Given the description of an element on the screen output the (x, y) to click on. 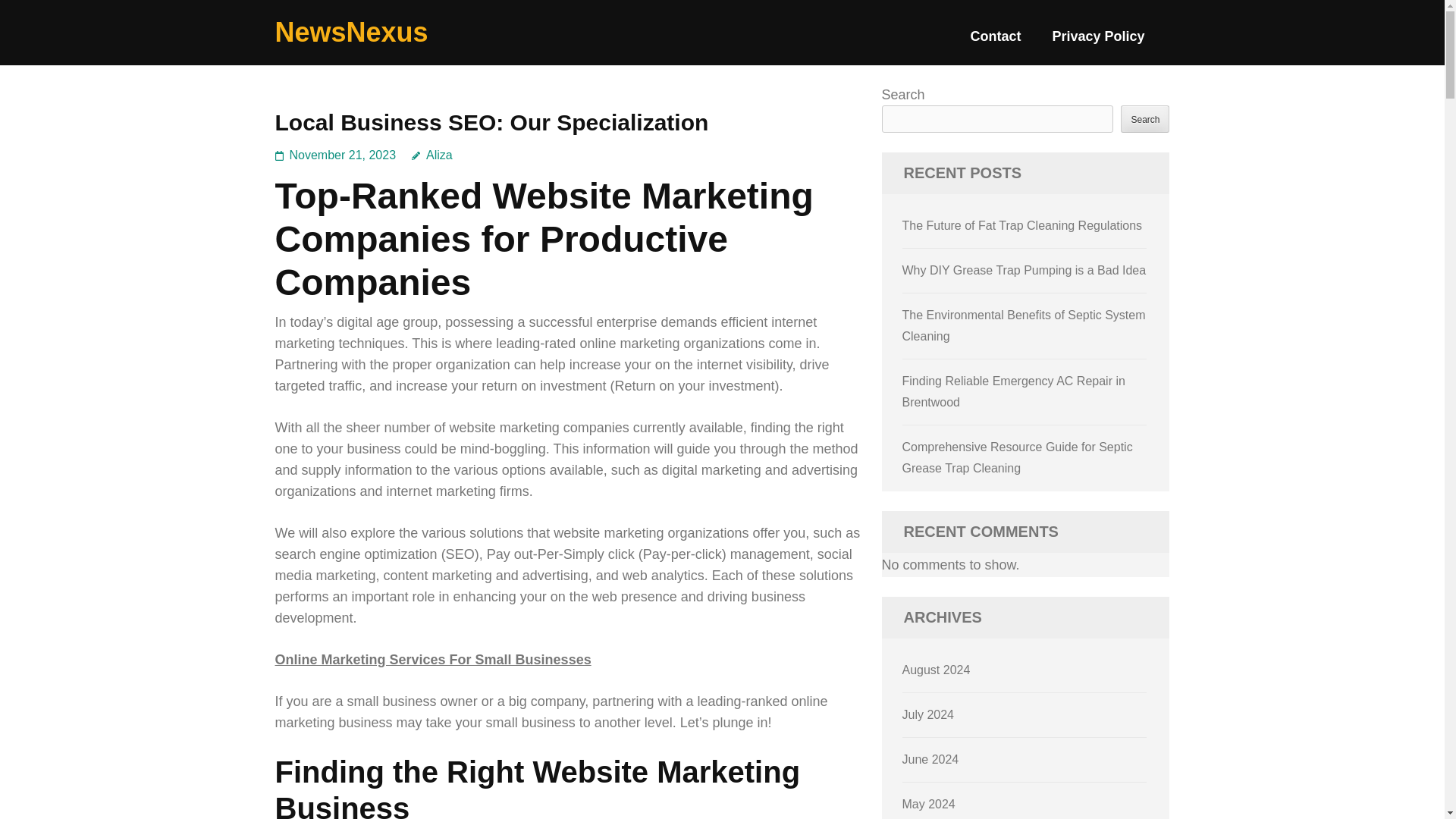
The Future of Fat Trap Cleaning Regulations (1022, 225)
The Environmental Benefits of Septic System Cleaning (1023, 325)
Why DIY Grease Trap Pumping is a Bad Idea (1024, 269)
Contact (994, 42)
Search (1145, 118)
August 2024 (936, 669)
November 21, 2023 (342, 154)
June 2024 (930, 758)
Privacy Policy (1097, 42)
Comprehensive Resource Guide for Septic Grease Trap Cleaning (1017, 457)
